Given the description of an element on the screen output the (x, y) to click on. 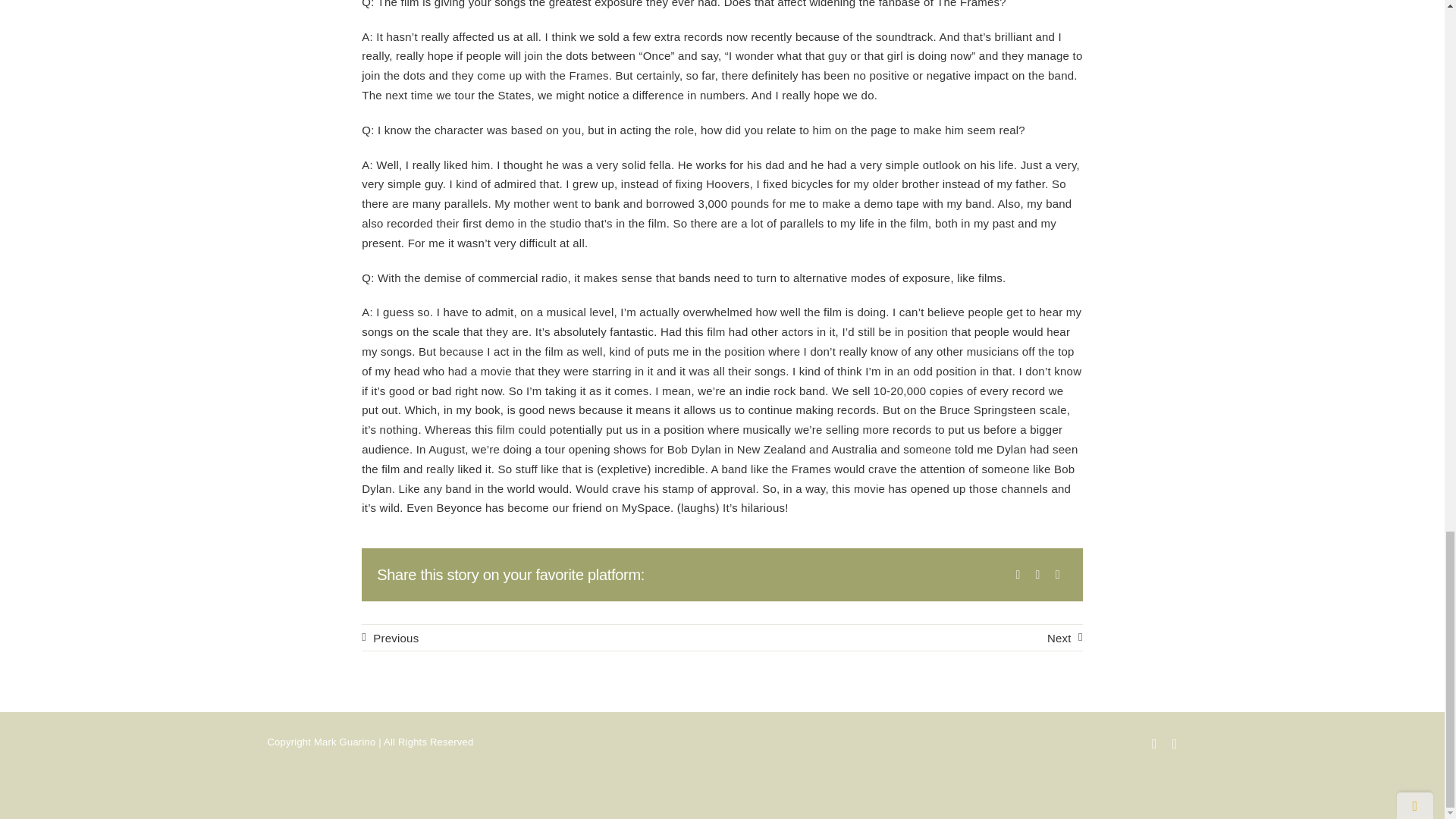
Next (1064, 637)
Previous (390, 637)
